Given the description of an element on the screen output the (x, y) to click on. 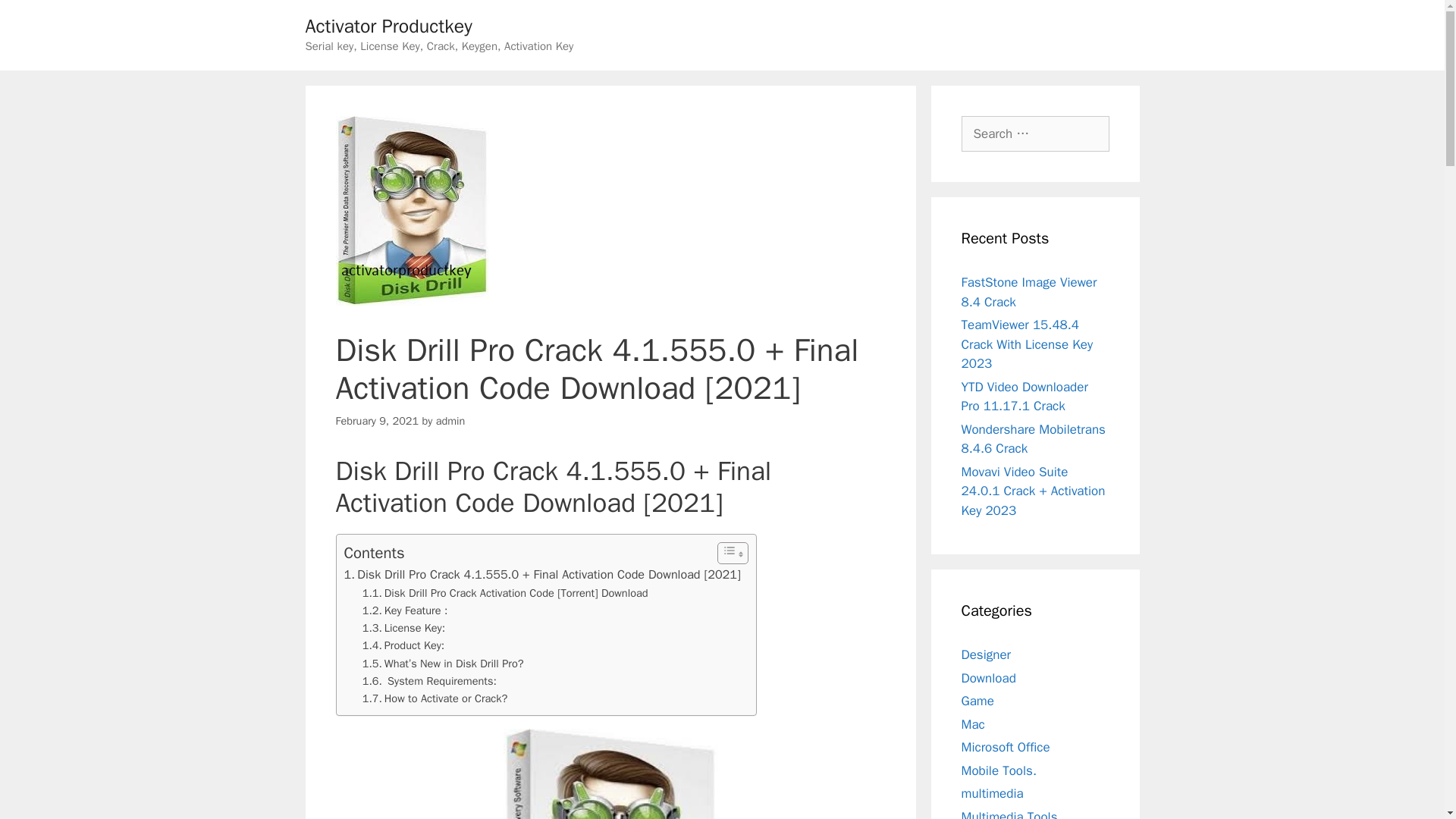
Activator Productkey (387, 25)
Download (988, 678)
Key Feature : (405, 610)
TeamViewer 15.48.4 Crack With License Key 2023 (1026, 343)
YTD Video Downloader Pro 11.17.1 Crack (1023, 396)
admin (450, 420)
How to Activate or Crack? (435, 698)
Designer (985, 654)
License Key: (403, 628)
 System Requirements: (429, 681)
Key Feature : (405, 610)
View all posts by admin (450, 420)
Product Key: (403, 645)
How to Activate or Crack? (435, 698)
FastStone Image Viewer 8.4 Crack  (1028, 292)
